Given the description of an element on the screen output the (x, y) to click on. 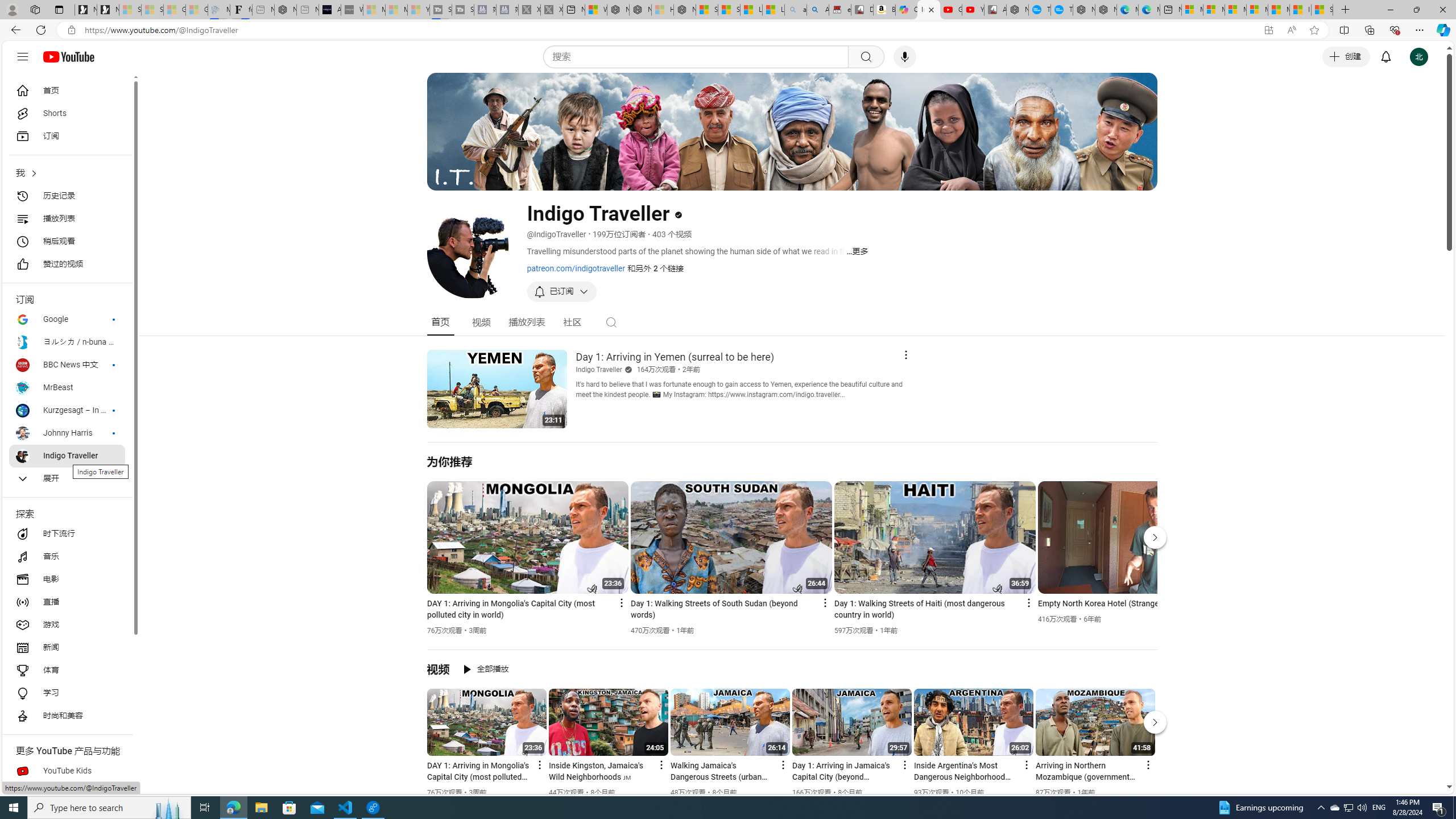
Microsoft Start - Sleeping (396, 9)
amazon - Search - Sleeping (795, 9)
YouTube Kids - An App Created for Kids to Explore Content (972, 9)
